Given the description of an element on the screen output the (x, y) to click on. 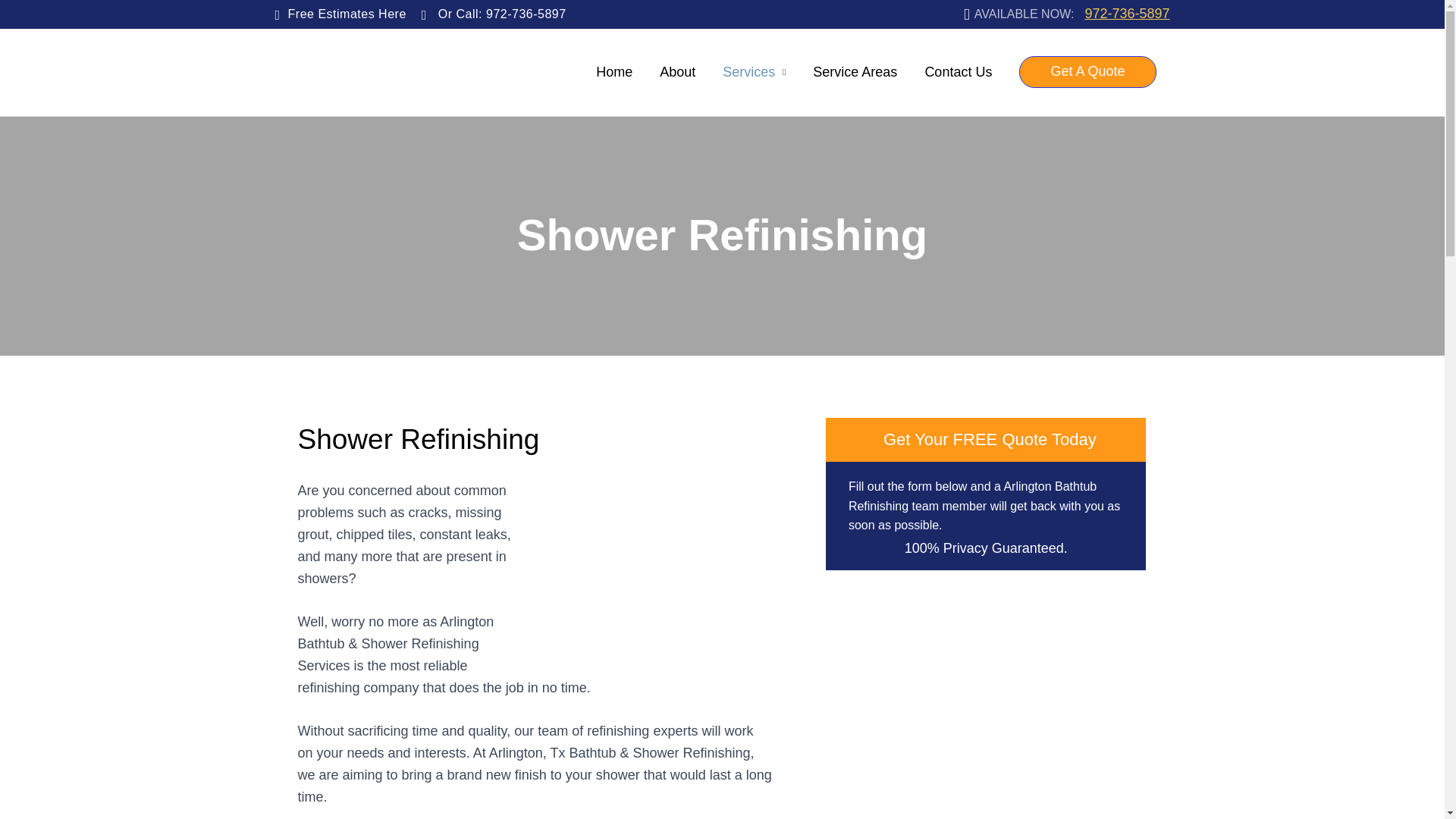
Service Areas (855, 72)
972-736-5897 (1126, 13)
Or Call: 972-736-5897 (494, 13)
Get A Quote (1087, 71)
Contact Us (958, 72)
Free Estimates Here (340, 13)
checkbox (859, 440)
Services (754, 72)
Free Estimates Here (340, 13)
